Given the description of an element on the screen output the (x, y) to click on. 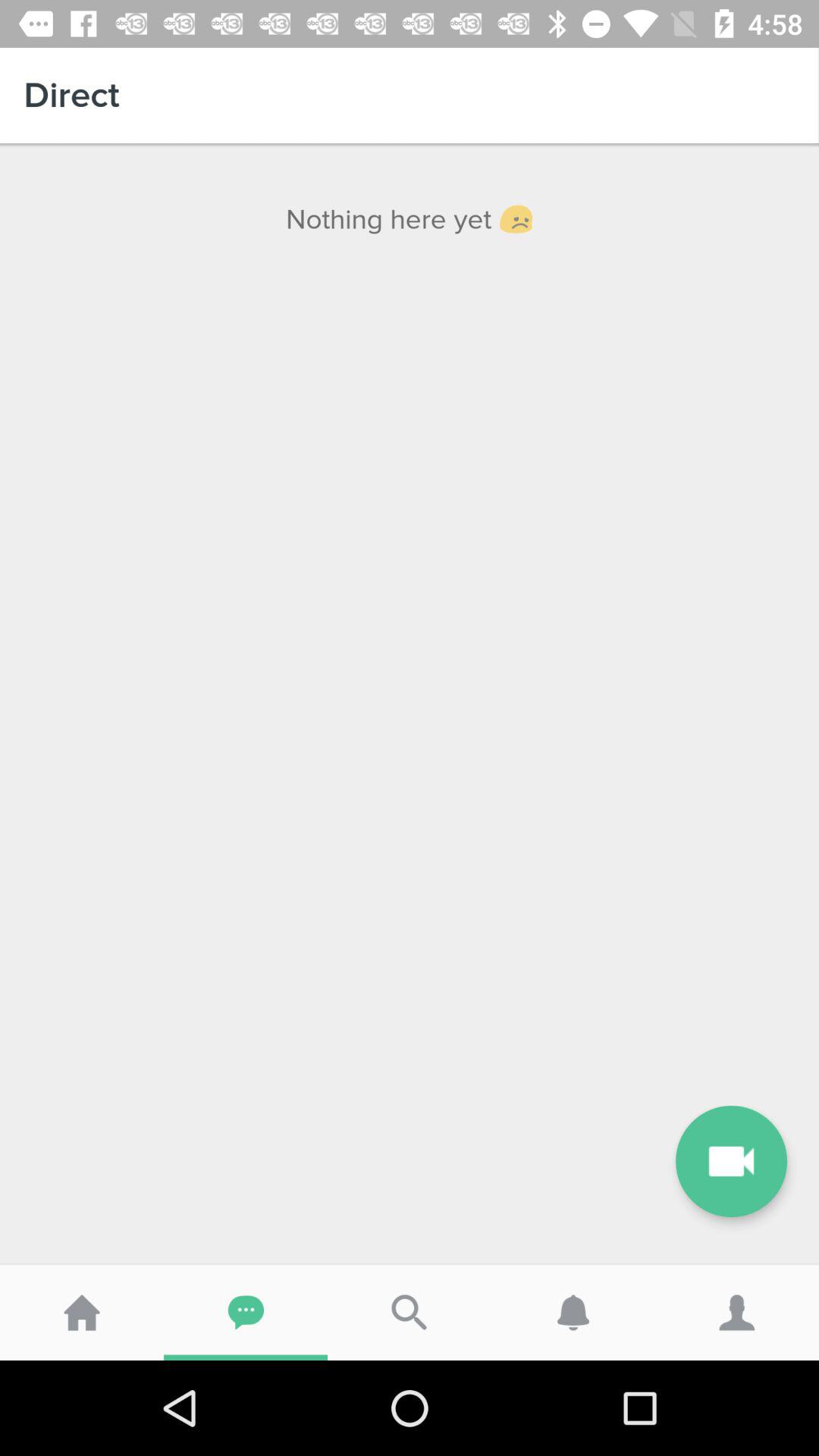
swipe until direct item (409, 95)
